Given the description of an element on the screen output the (x, y) to click on. 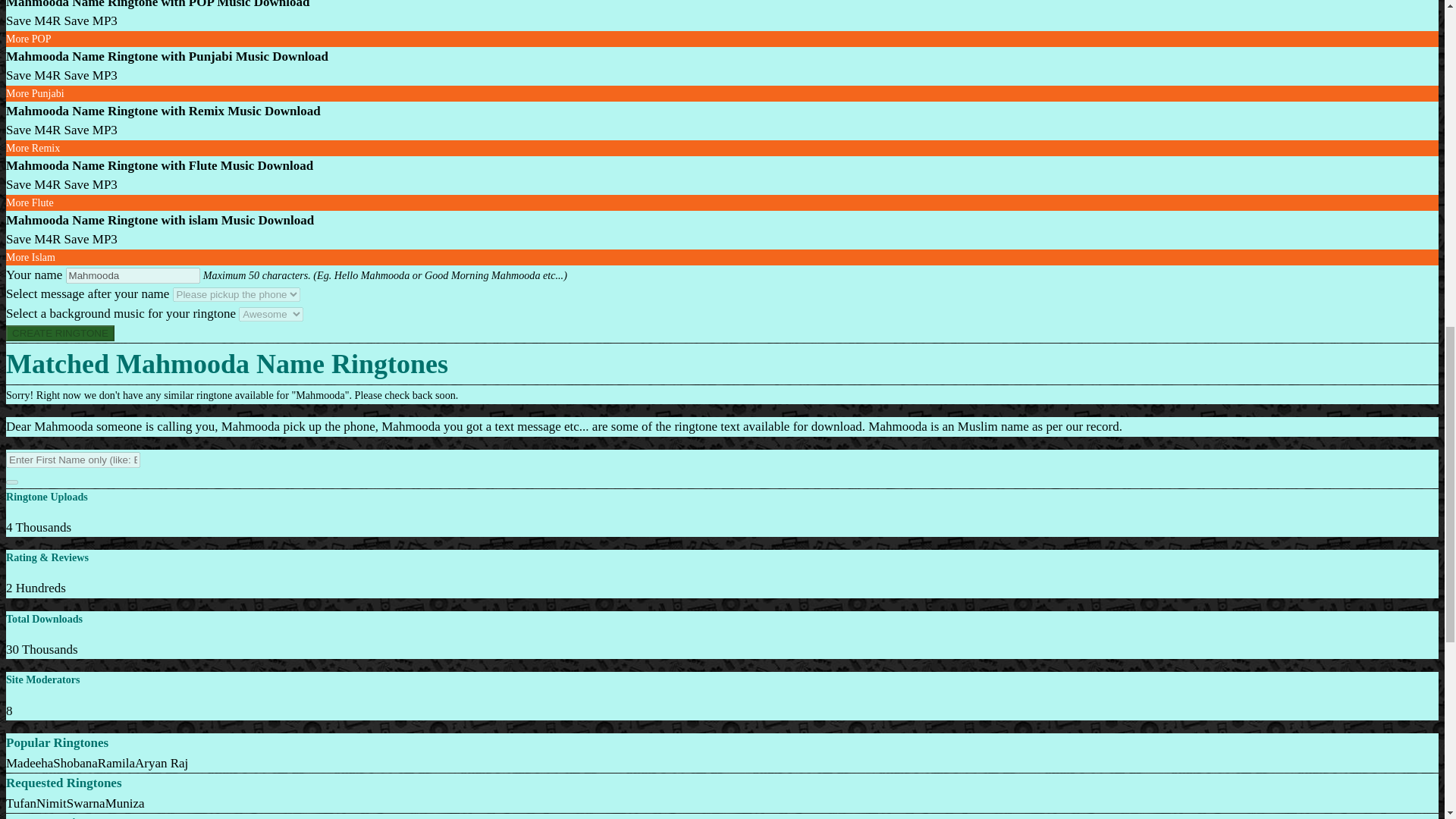
Save MP3 (90, 20)
More Flute (29, 202)
Save MP3 (90, 129)
ramila name ringtone with music (116, 762)
Save M4R (33, 184)
More Islam (30, 256)
Save M4R (33, 74)
Mahmooda (132, 274)
More Remix (32, 147)
POP mobile ringtones (27, 39)
aryan raj name ringtone with music (161, 762)
Save M4R (33, 238)
More POP (27, 39)
tufan name ringtone with music (20, 803)
shobana name ringtone with music (74, 762)
